Given the description of an element on the screen output the (x, y) to click on. 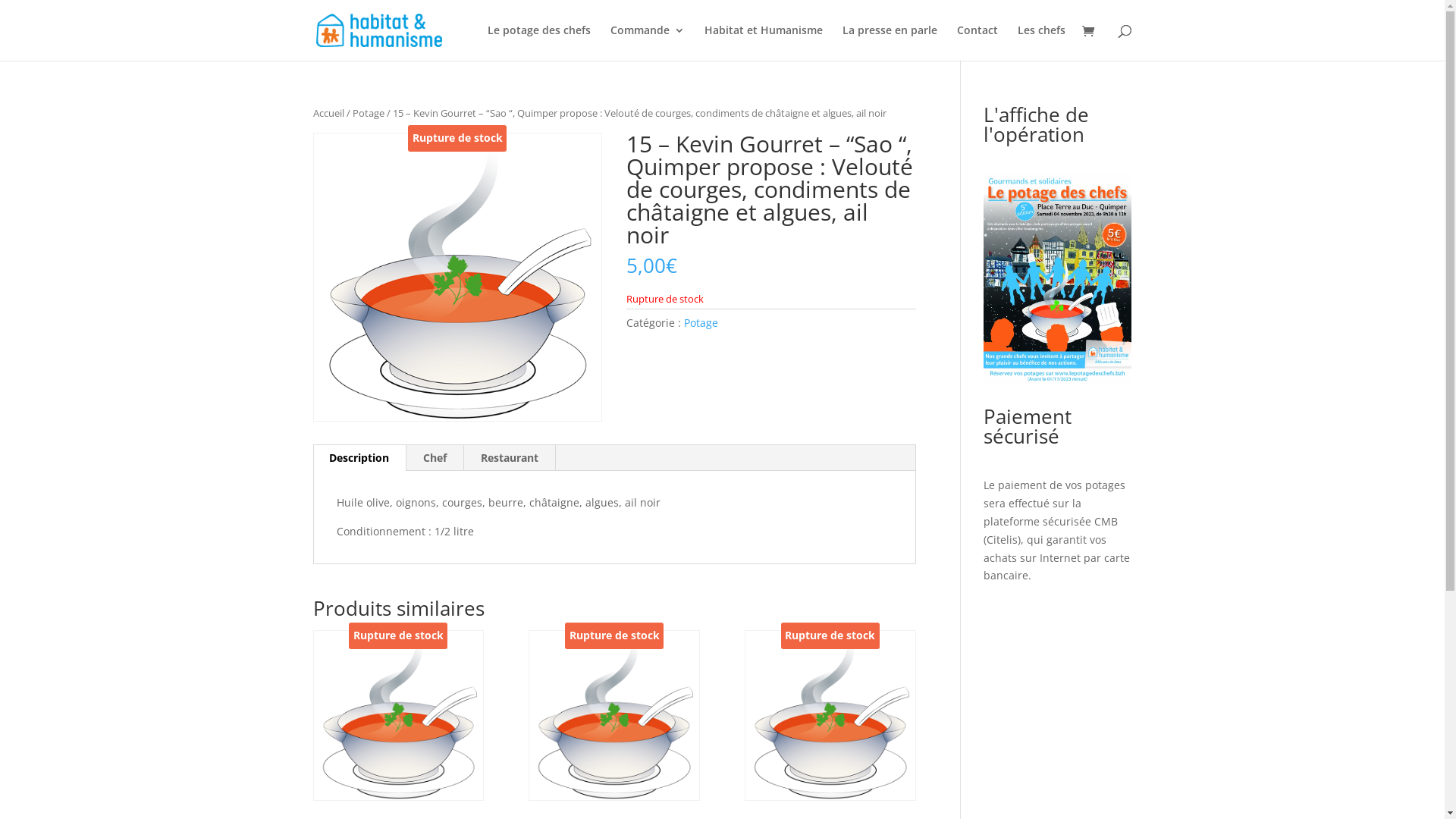
Habitat et Humanisme Element type: text (762, 42)
Chef Element type: text (434, 457)
Accueil Element type: text (327, 112)
Potage Element type: text (367, 112)
Contact Element type: text (977, 42)
La presse en parle Element type: text (888, 42)
Commande Element type: text (646, 42)
Potage Element type: text (701, 322)
Les chefs Element type: text (1041, 42)
Description Element type: text (358, 457)
Restaurant Element type: text (509, 457)
Le potage des chefs Element type: text (537, 42)
